Given the description of an element on the screen output the (x, y) to click on. 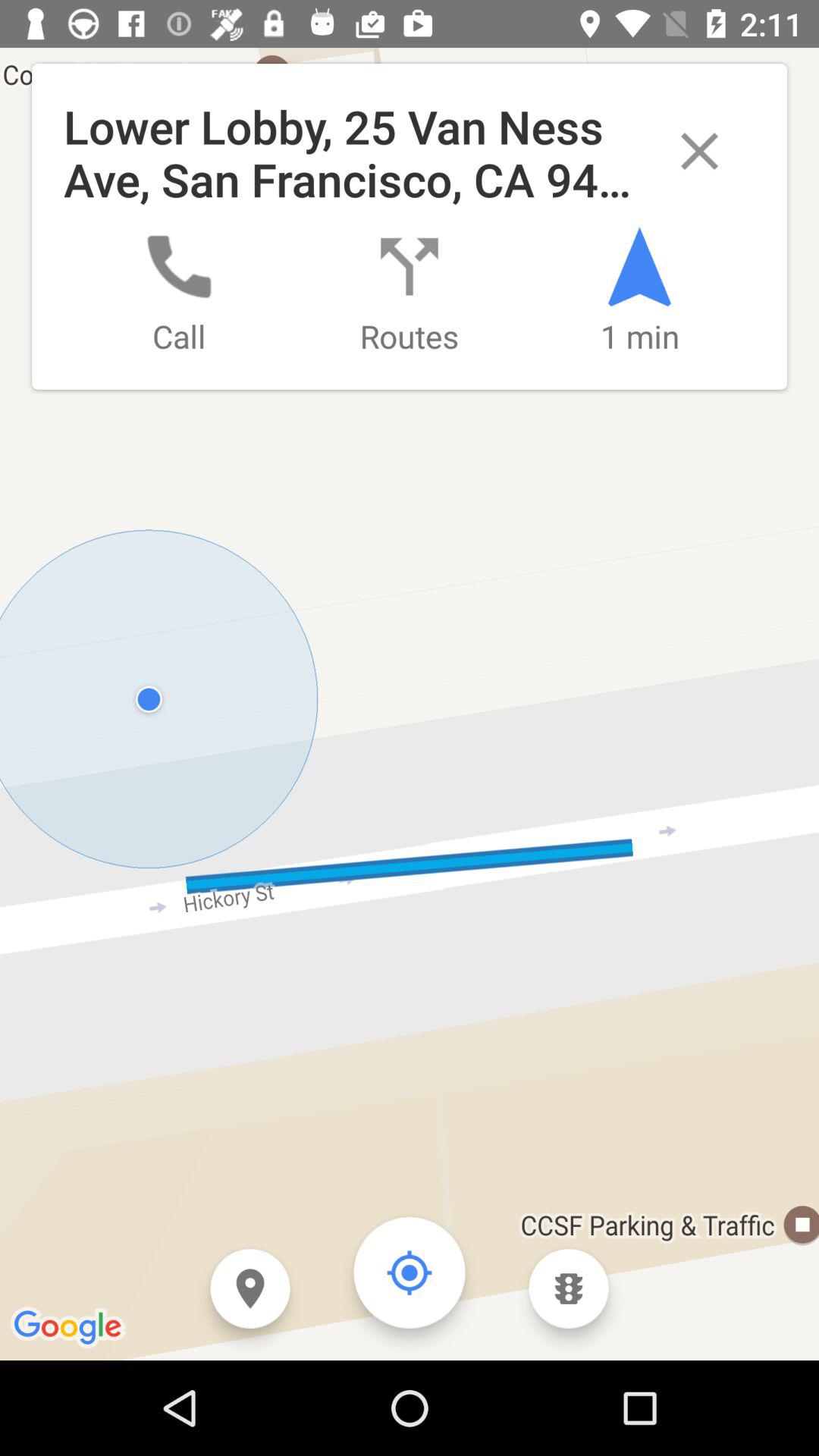
close popup (699, 151)
